Given the description of an element on the screen output the (x, y) to click on. 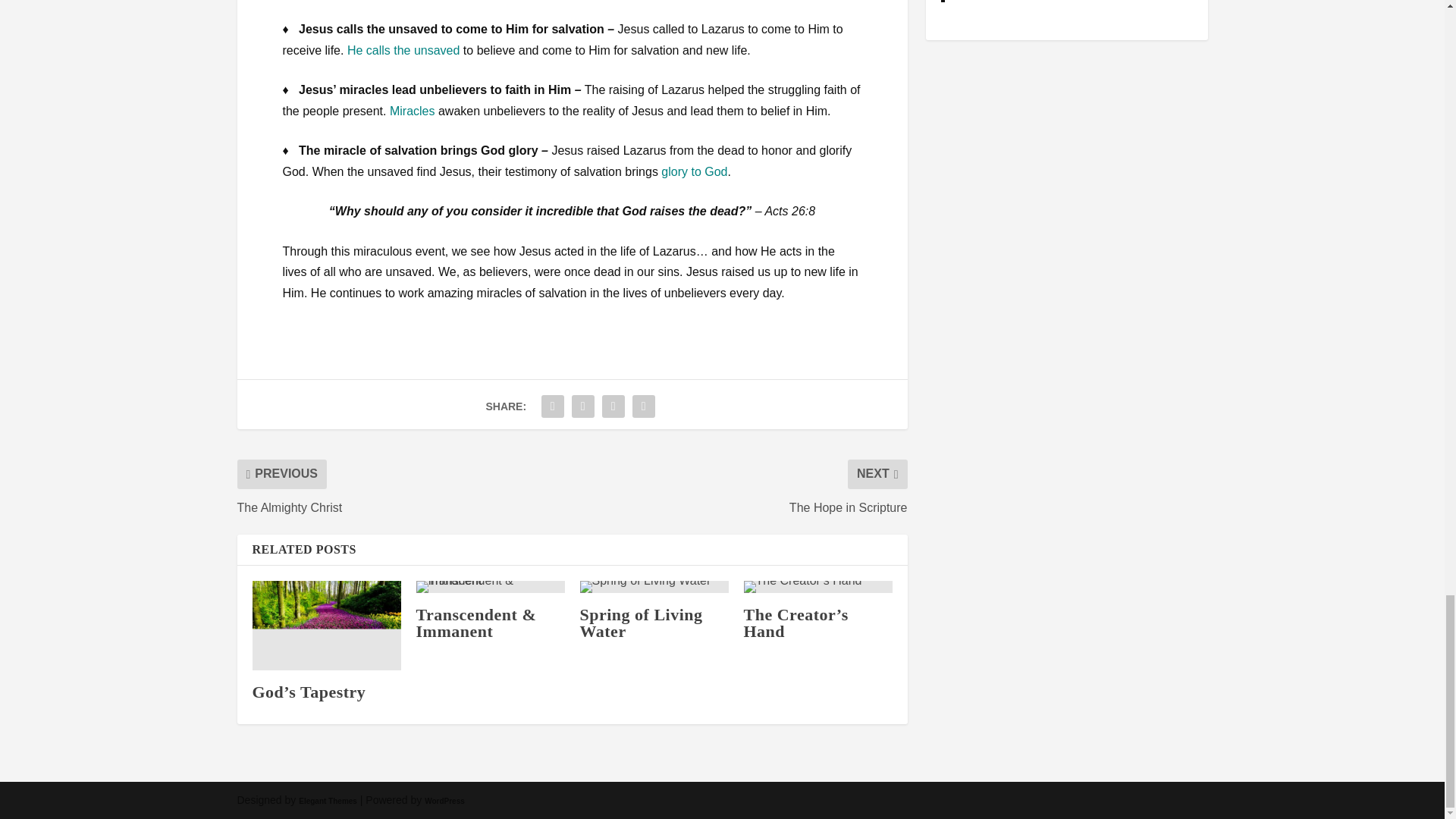
Share "Raised to New Life" via Pinterest (613, 406)
Spring of Living Water (640, 622)
Share "Raised to New Life" via Facebook (552, 406)
Miracles (412, 110)
Share "Raised to New Life" via Twitter (582, 406)
Share "Raised to New Life" via Email (643, 406)
He calls the unsaved (403, 50)
glory to God (693, 171)
Spring of Living Water (653, 586)
Premium WordPress Themes (327, 800)
